Given the description of an element on the screen output the (x, y) to click on. 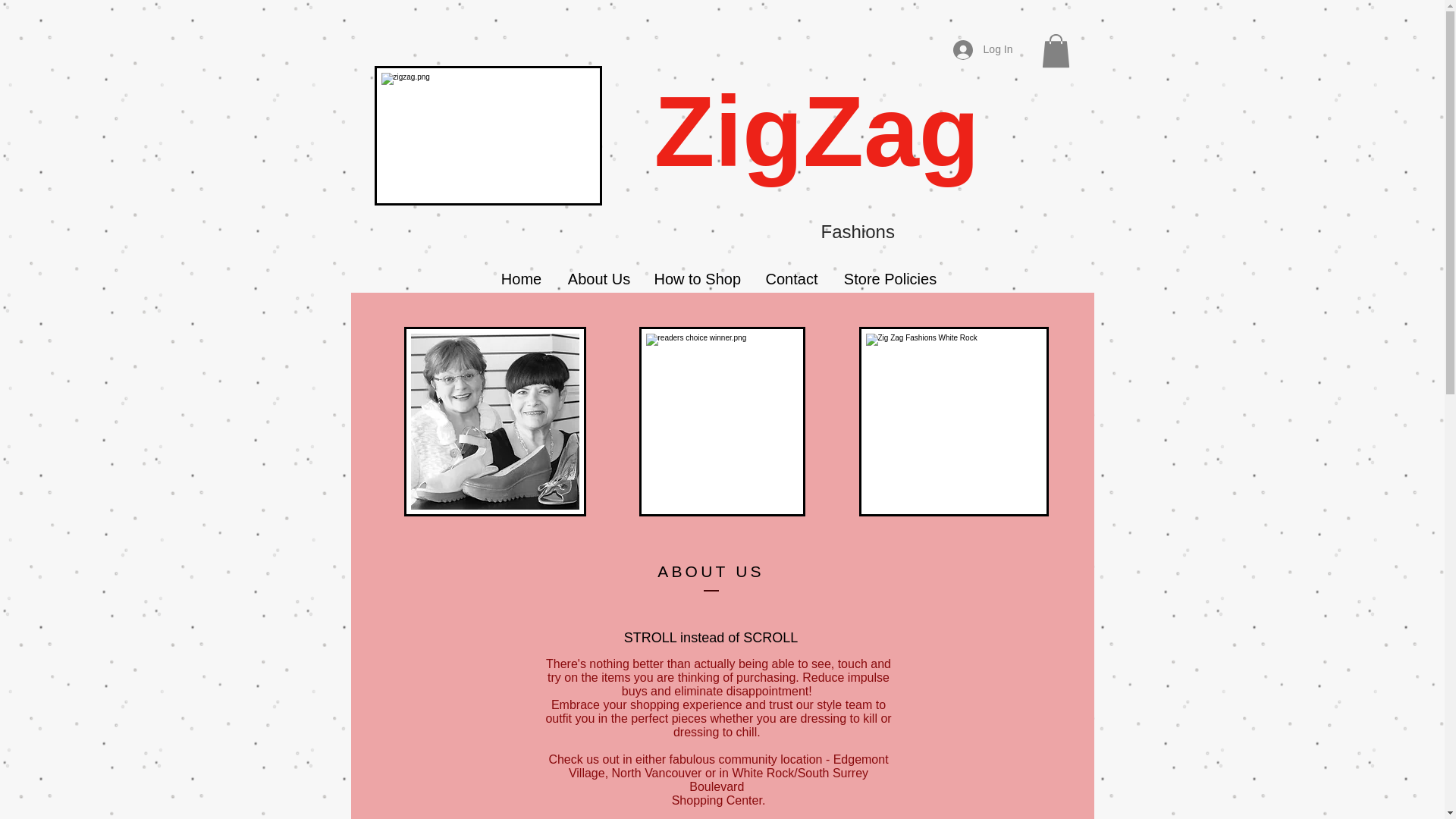
About Us (598, 279)
How to Shop (697, 279)
Store Policies (890, 279)
Home (520, 279)
Zig Zag Style Team at our White Rock location (953, 421)
Contact (791, 279)
Log In (982, 50)
